Given the description of an element on the screen output the (x, y) to click on. 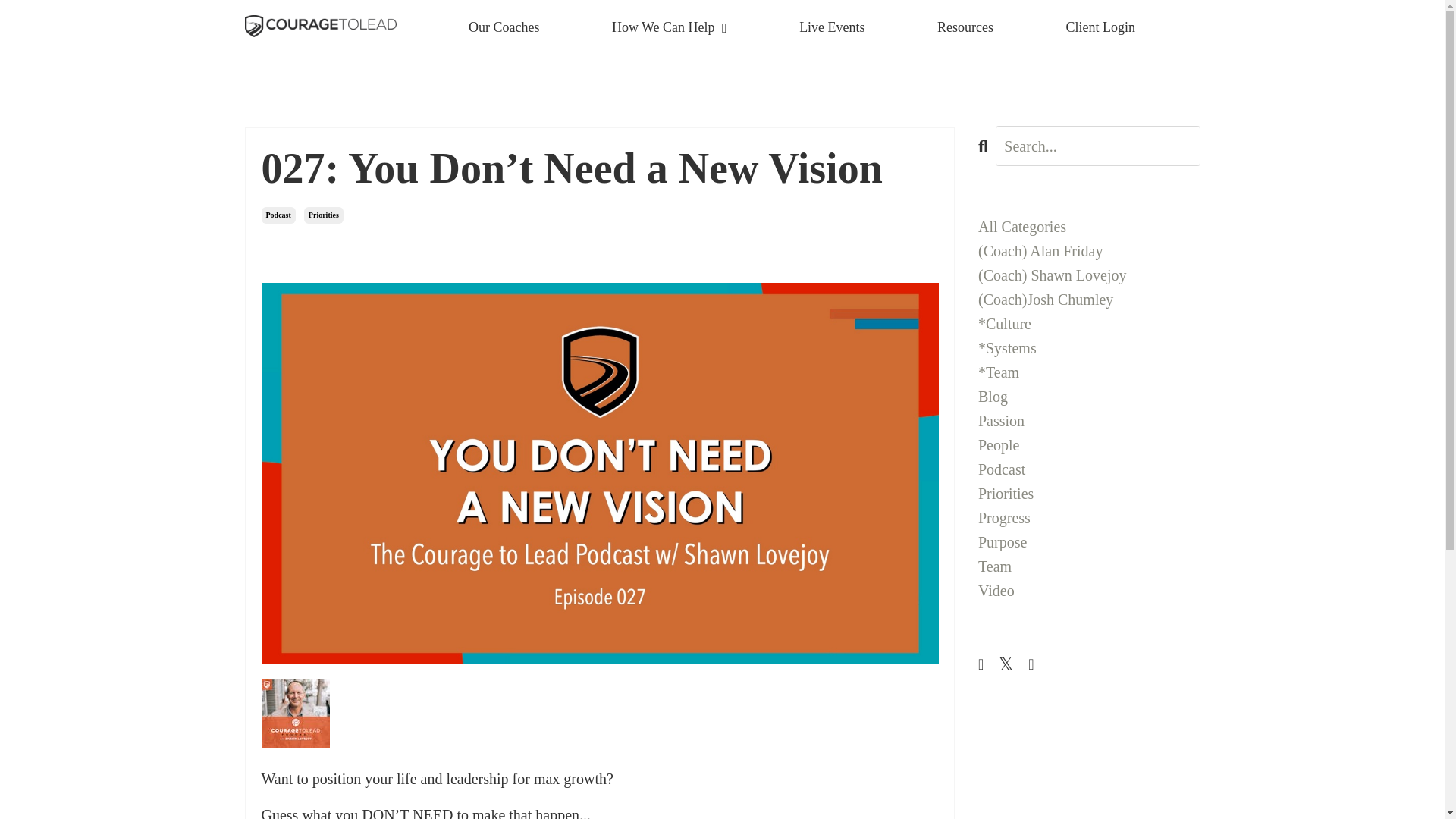
Passion (1088, 420)
Podcast (277, 215)
How We Can Help (668, 27)
Purpose (1088, 541)
Blog (1088, 396)
Live Events (831, 27)
All Categories (1088, 226)
Video (1088, 590)
Resources (964, 27)
Podcast (1088, 469)
Libsyn Player (599, 713)
Progress (1088, 517)
Client Login (1100, 27)
Our Coaches (503, 27)
Team (1088, 566)
